Given the description of an element on the screen output the (x, y) to click on. 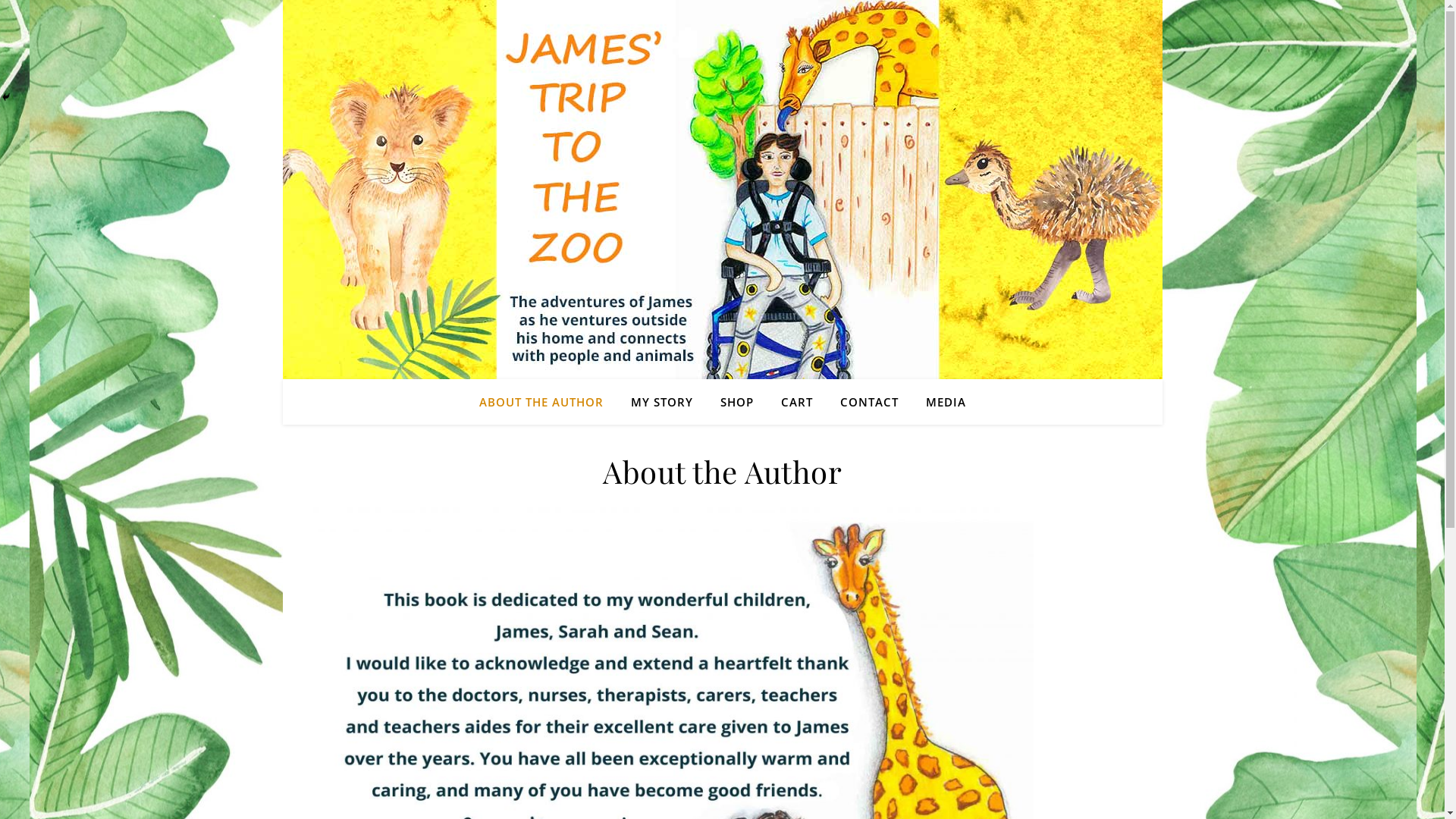
MY STORY Element type: text (661, 401)
Hide Element type: hover (6, 97)
MEDIA Element type: text (939, 401)
SHOP Element type: text (736, 401)
CONTACT Element type: text (869, 401)
ABOUT THE AUTHOR Element type: text (547, 401)
CART Element type: text (796, 401)
